Given the description of an element on the screen output the (x, y) to click on. 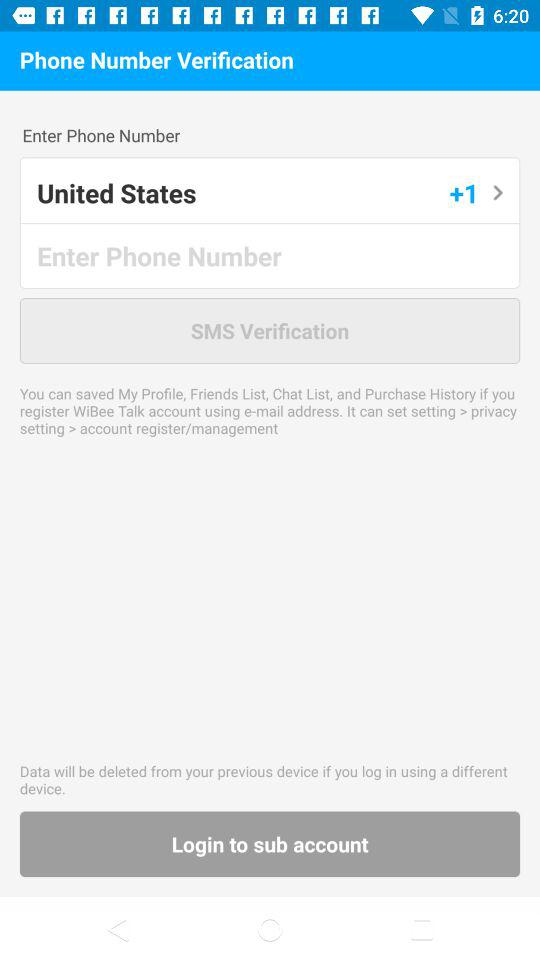
getting phone number into textbar (271, 255)
